Given the description of an element on the screen output the (x, y) to click on. 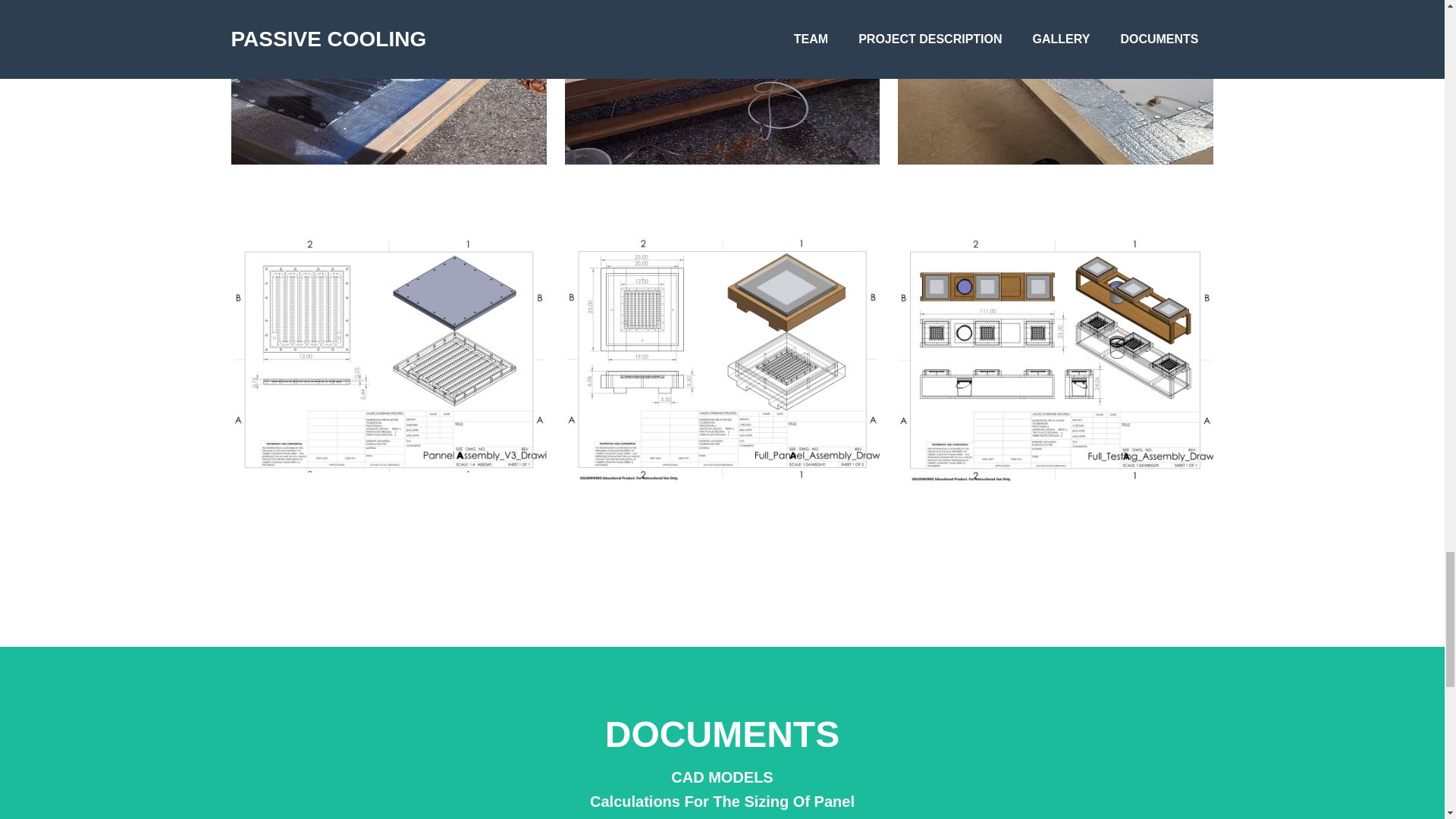
CAD MODELS (721, 777)
Calculations For The Sizing Of Panel (721, 801)
